Given the description of an element on the screen output the (x, y) to click on. 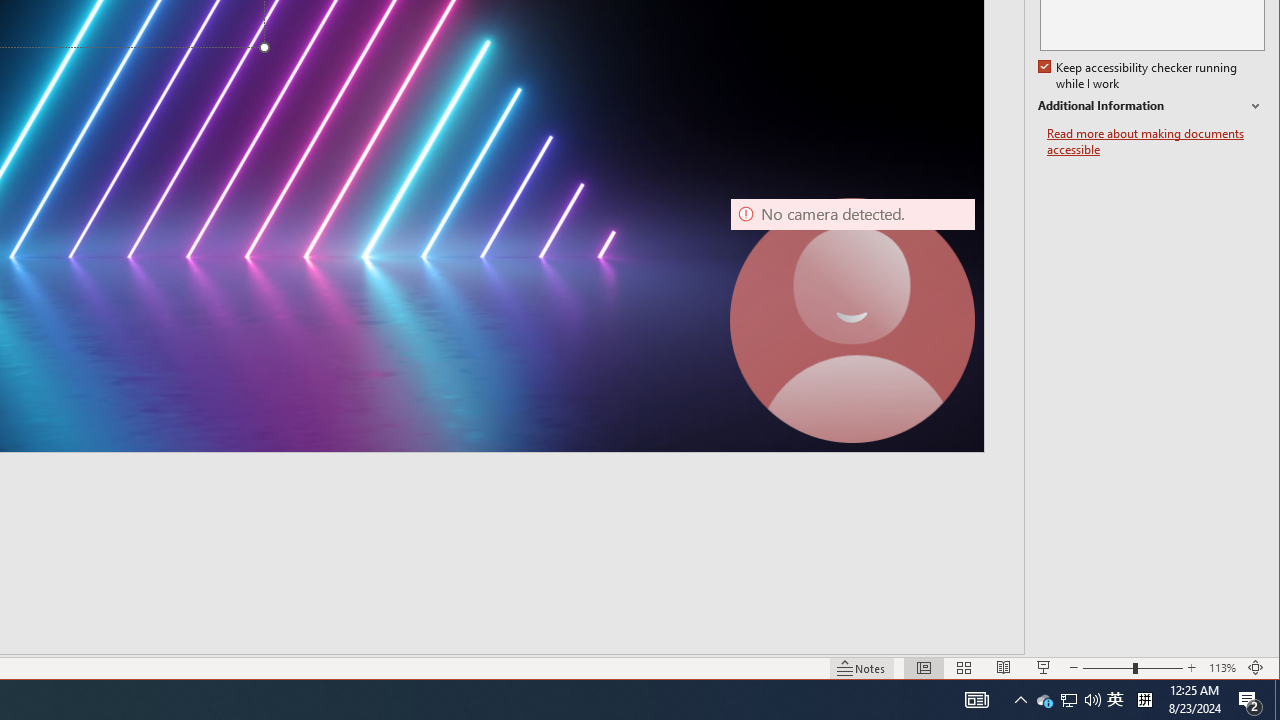
Zoom 113% (1222, 668)
